Given the description of an element on the screen output the (x, y) to click on. 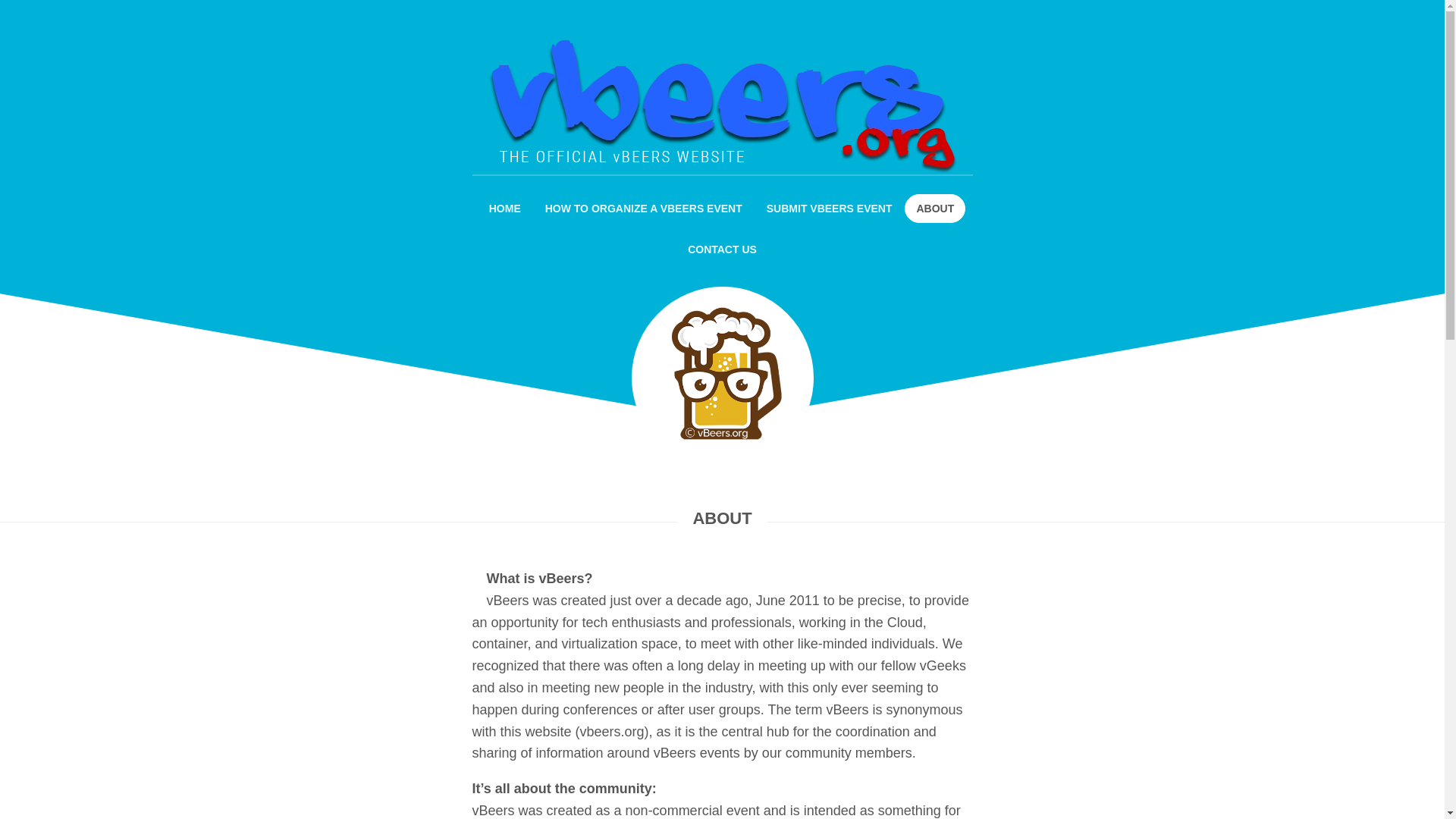
HOW TO ORGANIZE A VBEERS EVENT (643, 208)
SUBMIT VBEERS EVENT (829, 208)
CONTACT US (722, 249)
ABOUT (934, 208)
HOME (505, 208)
